Given the description of an element on the screen output the (x, y) to click on. 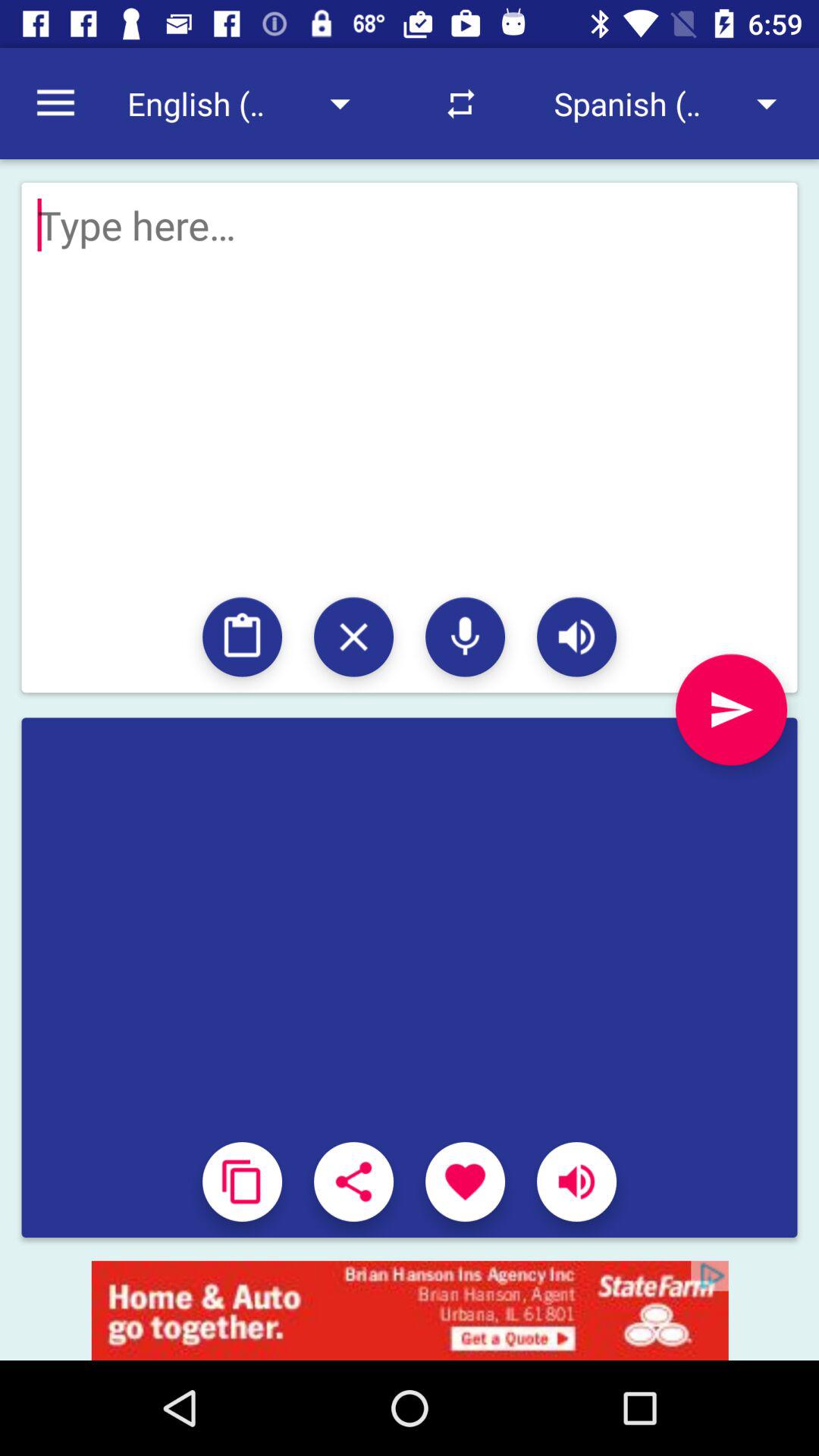
select microphone (465, 636)
